Given the description of an element on the screen output the (x, y) to click on. 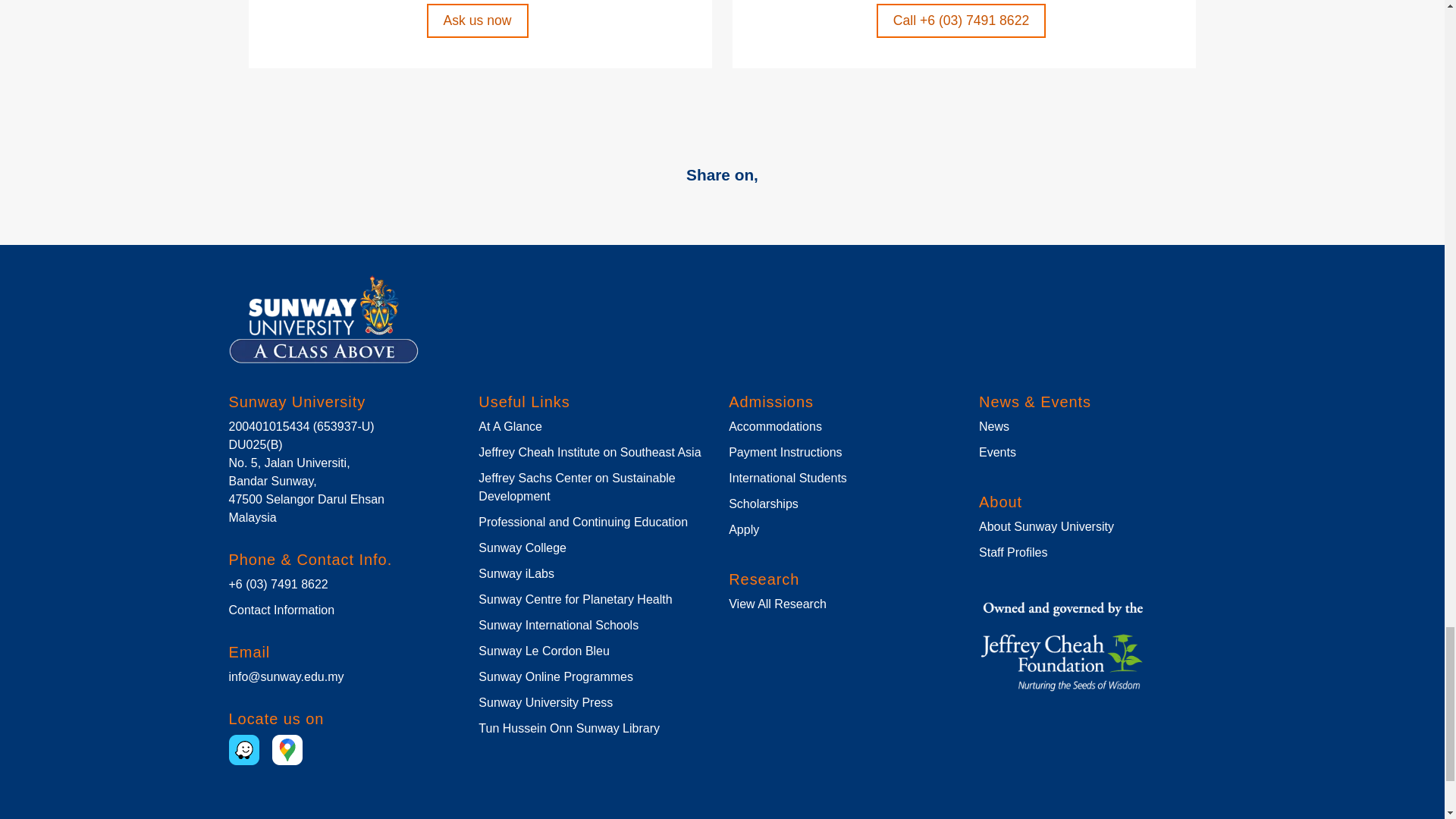
Share to WhatsApp (667, 205)
Share to Email (740, 205)
Share to Facebook (630, 205)
Share to Linkedin (703, 205)
